Given the description of an element on the screen output the (x, y) to click on. 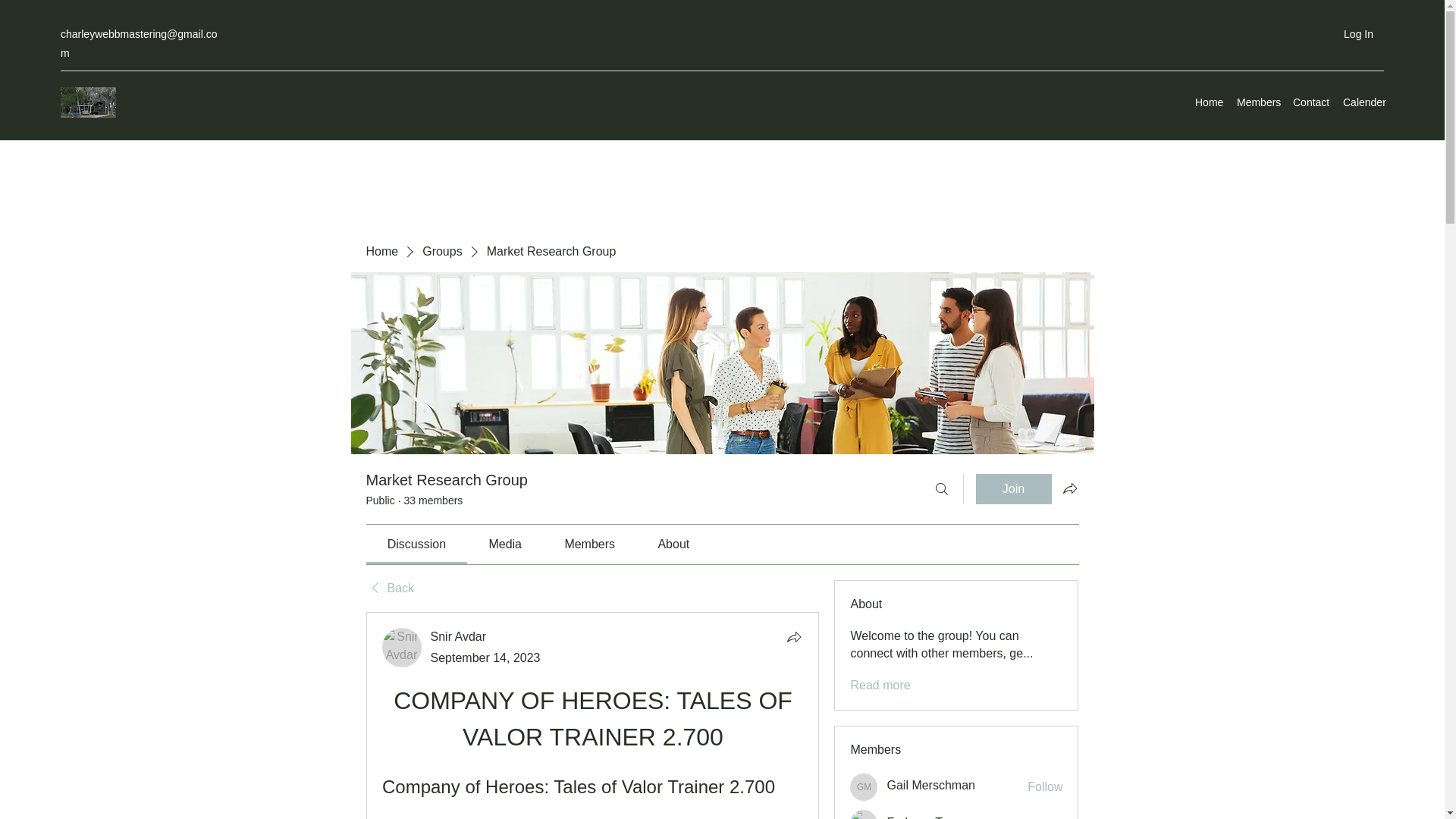
Follow (1044, 786)
Farheen Tareen (929, 817)
Home (381, 251)
Groups (441, 251)
Follow (1044, 817)
Home (1208, 101)
Snir Avdar (401, 647)
Back (389, 588)
Log In (1358, 34)
Contact (1310, 101)
